Given the description of an element on the screen output the (x, y) to click on. 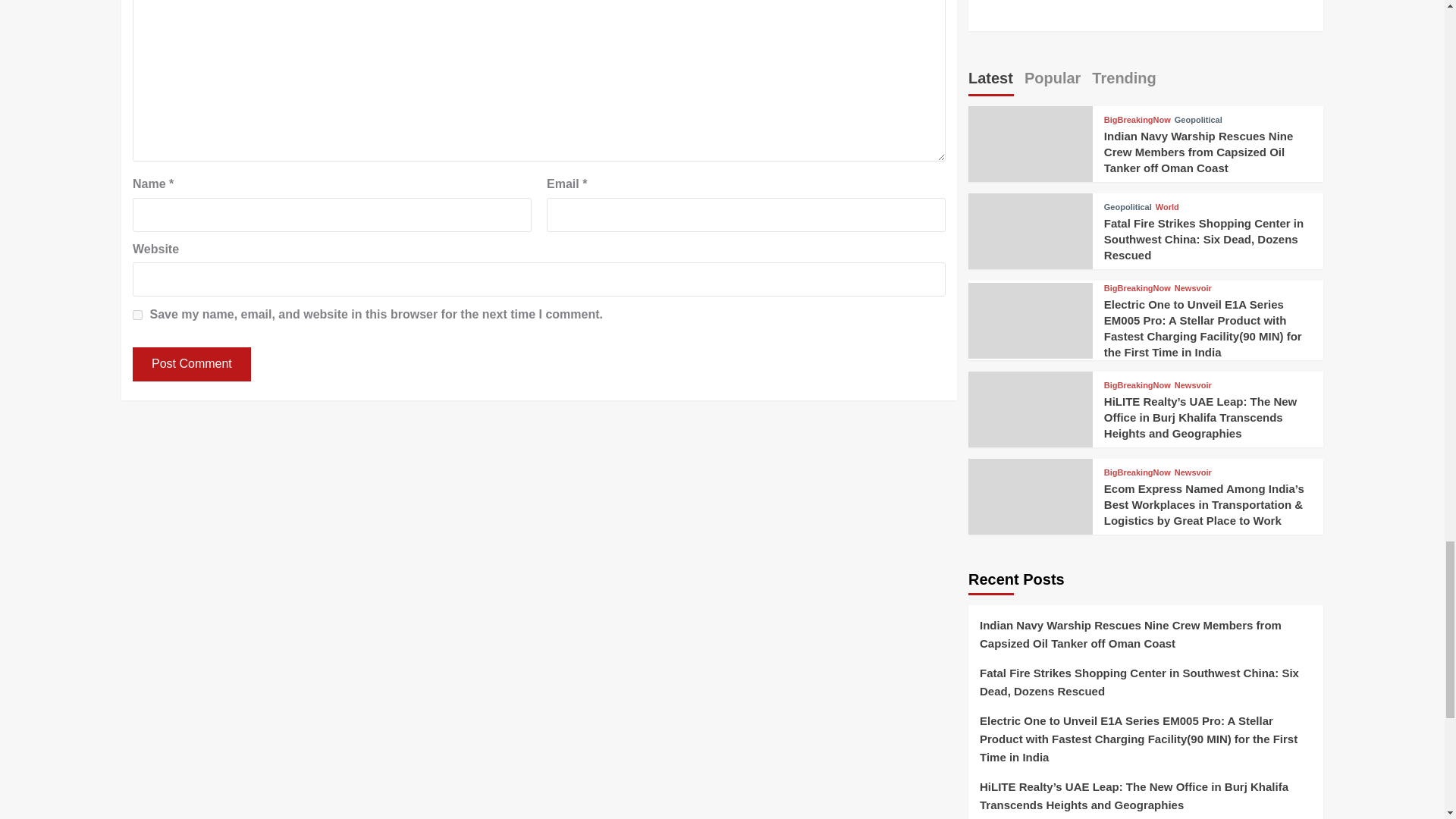
yes (137, 315)
Post Comment (191, 364)
